Given the description of an element on the screen output the (x, y) to click on. 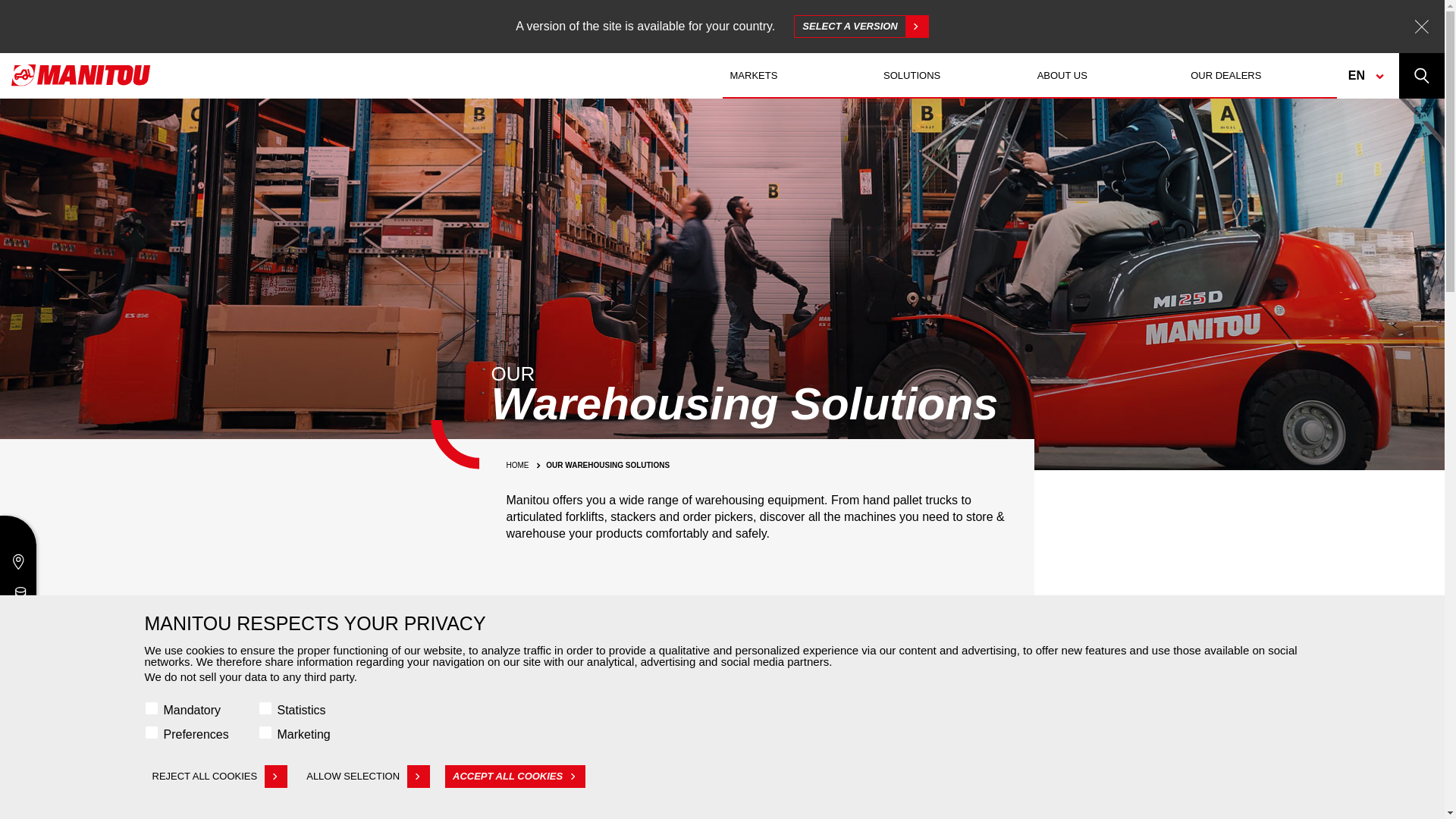
About Manitou (180, 711)
SELECT A VERSION (1106, 75)
Your Markets (860, 26)
HOME (799, 75)
Solutions Manitou (1263, 711)
Skip to main content (518, 465)
Find a Manitou dealer (450, 711)
OUR DEALERS (952, 75)
